Given the description of an element on the screen output the (x, y) to click on. 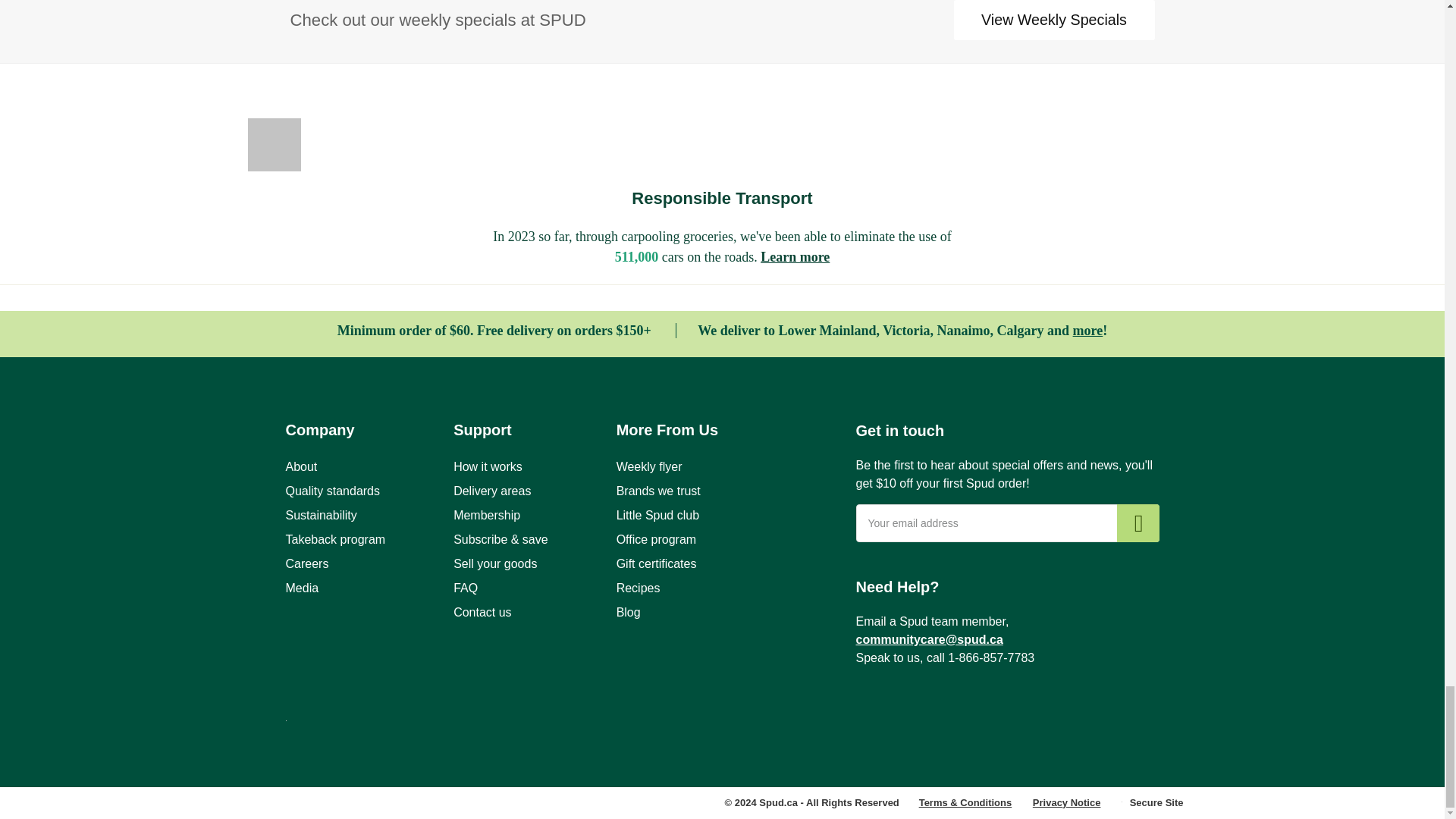
Spud on Instagram (919, 711)
Spud on Facebook (877, 711)
Spud on LinkedIn (1003, 711)
Spud on Twitter (961, 711)
